Given the description of an element on the screen output the (x, y) to click on. 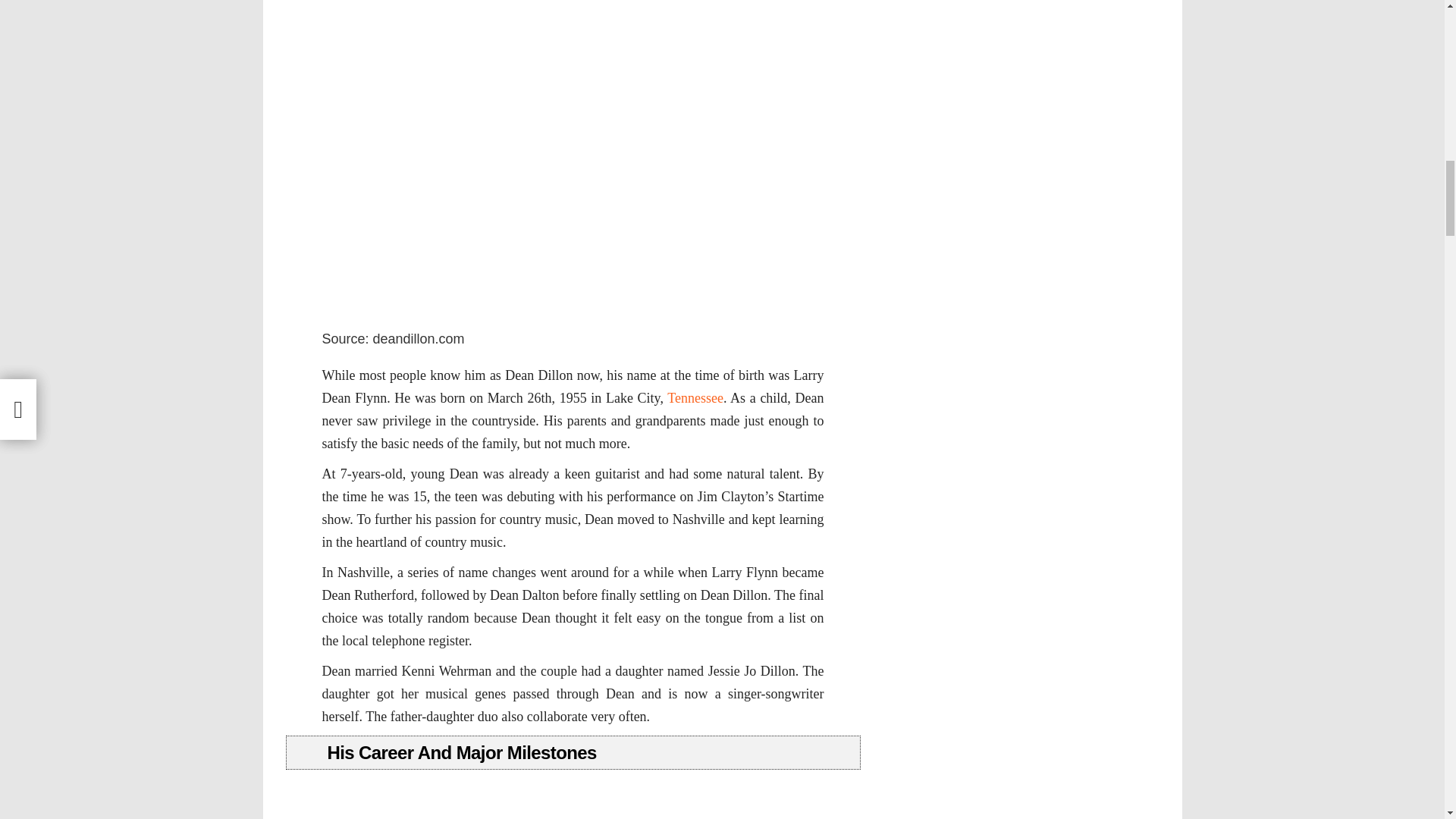
Tennessee (694, 397)
